Given the description of an element on the screen output the (x, y) to click on. 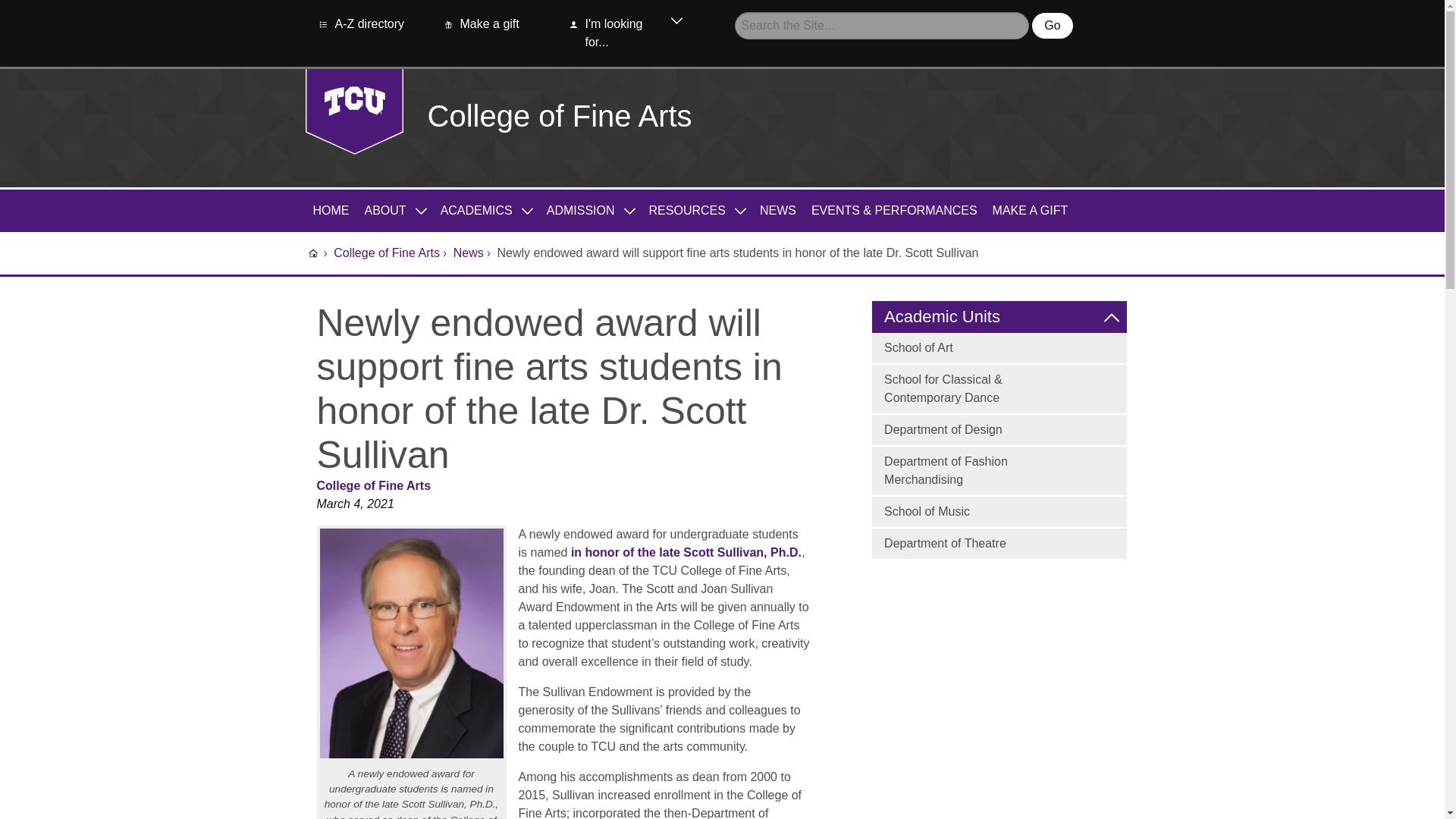
Search (1051, 25)
Expand ADMISSION Menu (630, 210)
College of Fine Arts (560, 115)
Expand ACADEMICS Menu (527, 210)
Expand RESOURCES Menu (740, 210)
Go (1051, 25)
Go (1051, 25)
ABOUT (384, 210)
Texas Christian University (353, 111)
Expand I'm looking for... Menu (676, 23)
MAKE A GIFT (1030, 210)
ACADEMICS (475, 210)
NEWS (777, 210)
Expand ABOUT Menu (421, 210)
